Given the description of an element on the screen output the (x, y) to click on. 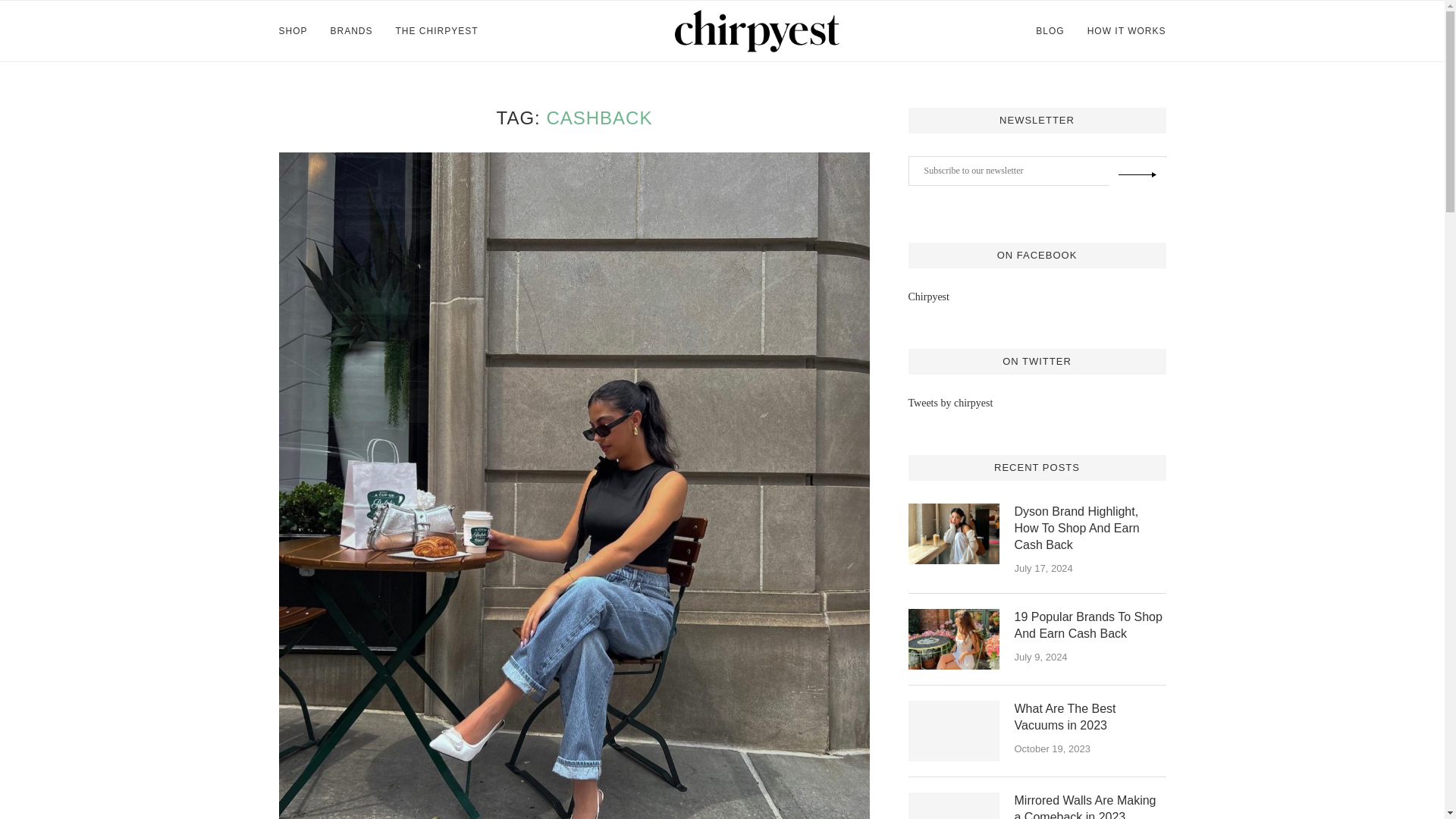
Dyson Brand Highlight, How To Shop And Earn Cash Back (1090, 528)
THE CHIRPYEST (437, 30)
HOW IT WORKS (1126, 30)
What Are The Best Vacuums in 2023 (953, 731)
What Are The Best Vacuums in 2023 (1090, 717)
Dyson Brand Highlight, How To Shop And Earn Cash Back (953, 533)
19 Popular Brands To Shop And Earn Cash Back (953, 639)
Mirrored Walls Are Making a Comeback in 2023 (953, 805)
19 Popular Brands To Shop And Earn Cash Back (1090, 625)
Mirrored Walls Are Making a Comeback in 2023 (1090, 805)
